Given the description of an element on the screen output the (x, y) to click on. 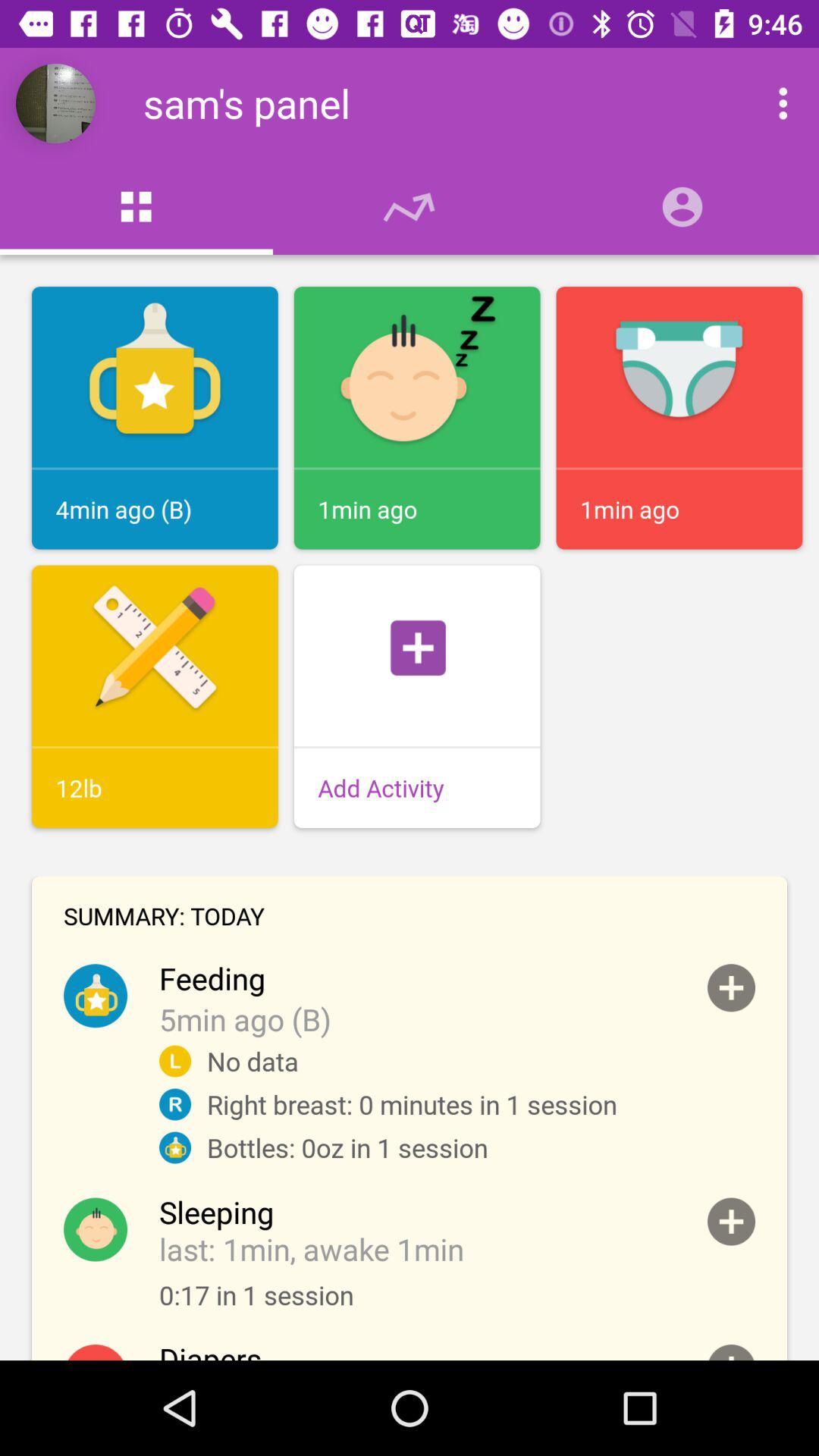
add activity (731, 1221)
